Given the description of an element on the screen output the (x, y) to click on. 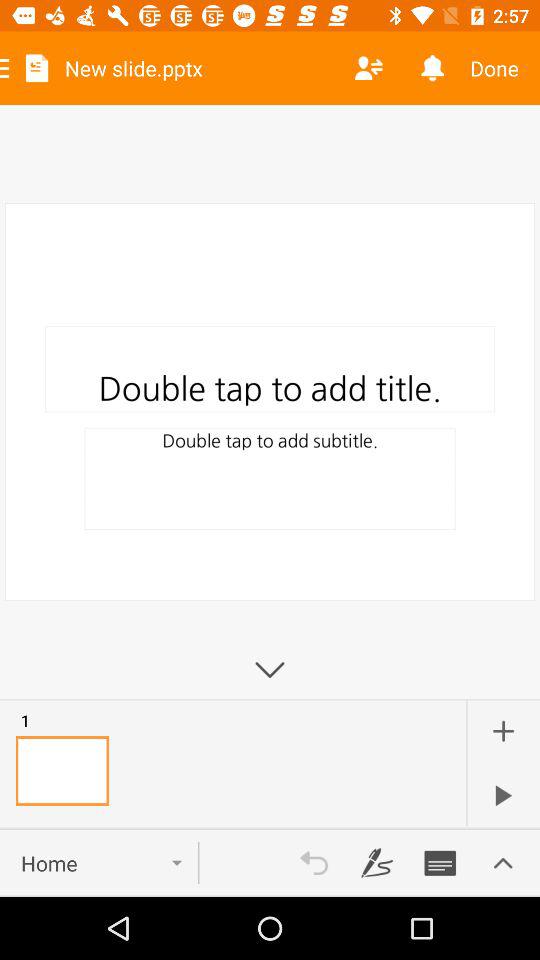
click more details arrow (503, 863)
